Given the description of an element on the screen output the (x, y) to click on. 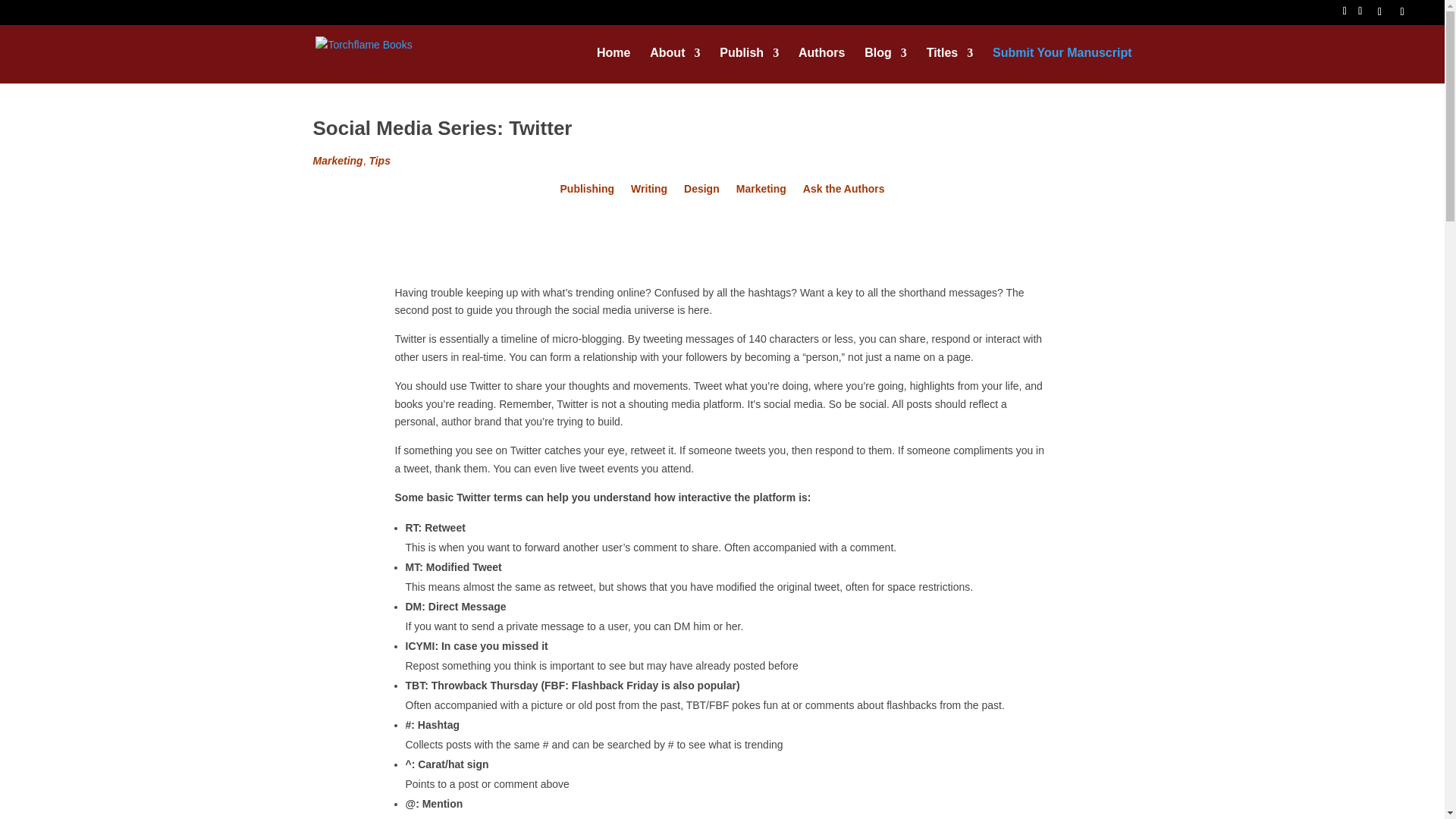
Writing (648, 191)
Titles (950, 65)
Publishing (587, 191)
Design (701, 191)
Submit Your Manuscript (1061, 65)
Blog (885, 65)
Authors (820, 65)
Marketing (761, 191)
Ask the Authors (844, 191)
Home (613, 65)
Publish (748, 65)
About (674, 65)
Tips (379, 160)
Marketing (337, 160)
